Given the description of an element on the screen output the (x, y) to click on. 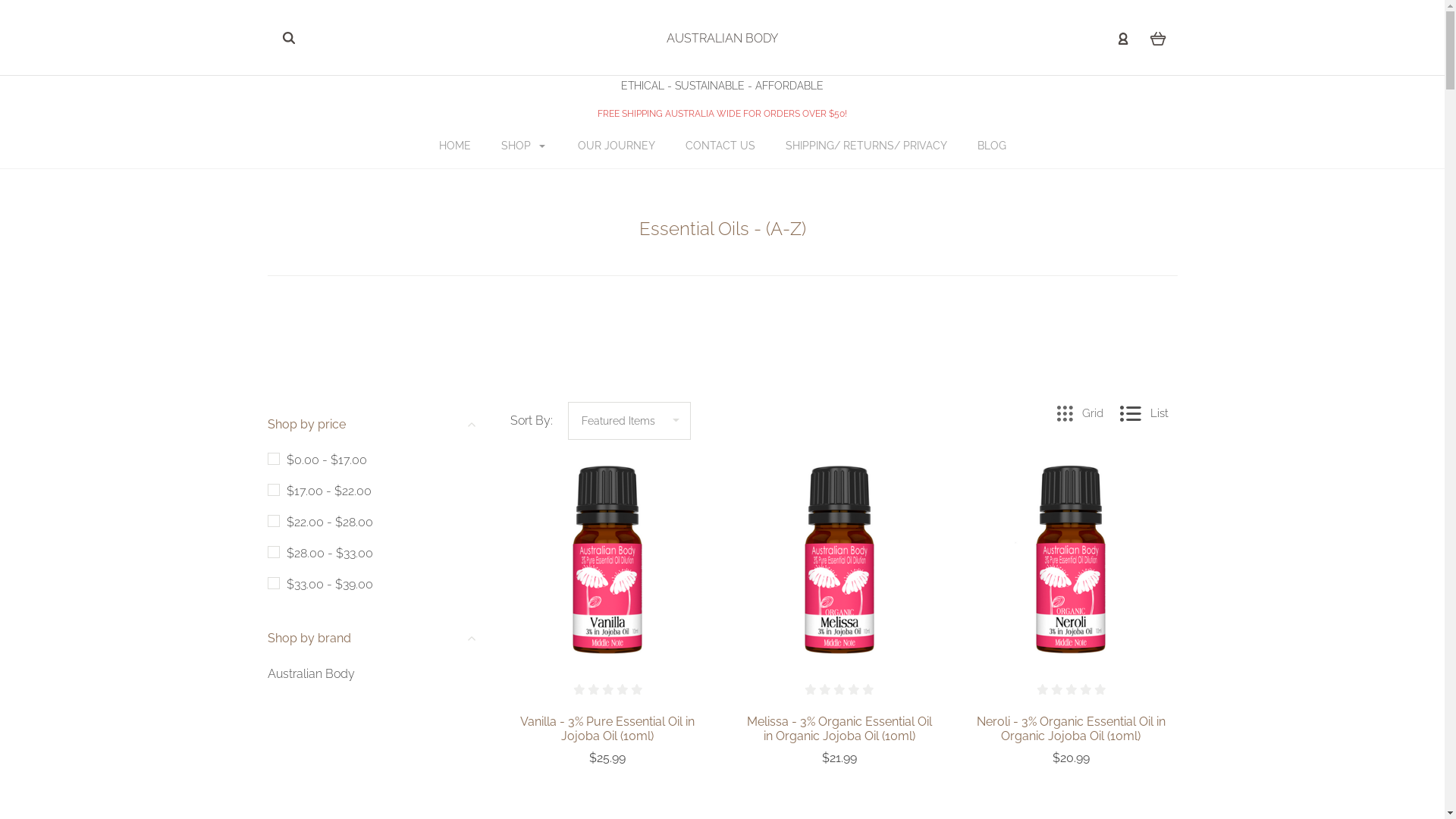
VANILLA 3% PURE ESSENTIAL OIL DILUTION IN JOJOBA Element type: hover (607, 559)
OUR JOURNEY Element type: text (616, 145)
NEROLI 3% PURE ORGANIC ESSENTIAL OIL DILUTION IN JOJOBA Element type: hover (1070, 559)
BLOG Element type: text (991, 145)
$33.00 - $39.00 Element type: text (319, 584)
MELISSA 3% PURE ORGANIC ESSENTIAL OIL DILUTION IN JOJOBA Element type: hover (839, 559)
SHOP Element type: text (523, 145)
SHIPPING/ RETURNS/ PRIVACY Element type: text (865, 145)
0 Element type: text (1157, 37)
$17.00 - $22.00 Element type: text (318, 490)
$22.00 - $28.00 Element type: text (319, 521)
$0.00 - $17.00 Element type: text (316, 459)
AUSTRALIAN BODY Element type: text (722, 37)
List Element type: text (1143, 413)
Vanilla - 3% Pure Essential Oil in Jojoba Oil (10ml) Element type: text (607, 728)
HOME Element type: text (453, 145)
Australian Body Element type: text (310, 673)
CONTACT US Element type: text (719, 145)
Grid Element type: text (1080, 413)
$28.00 - $33.00 Element type: text (319, 553)
